Given the description of an element on the screen output the (x, y) to click on. 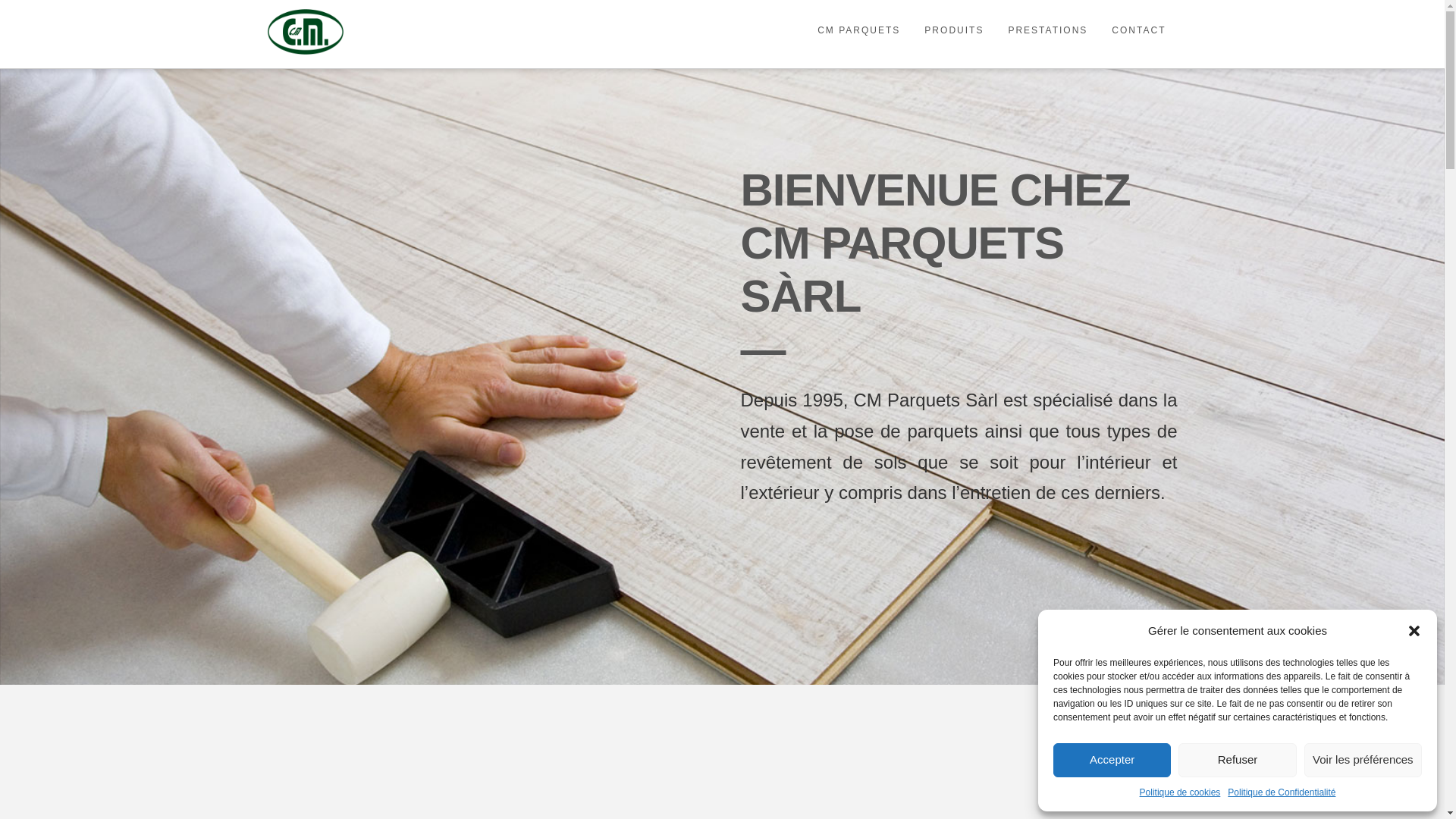
Refuser Element type: text (1236, 760)
Politique de cookies Element type: text (1179, 792)
CONTACT Element type: text (1137, 34)
CM PARQUETS Element type: text (857, 34)
PRESTATIONS Element type: text (1046, 34)
PRODUITS Element type: text (952, 34)
Accepter Element type: text (1111, 760)
